Given the description of an element on the screen output the (x, y) to click on. 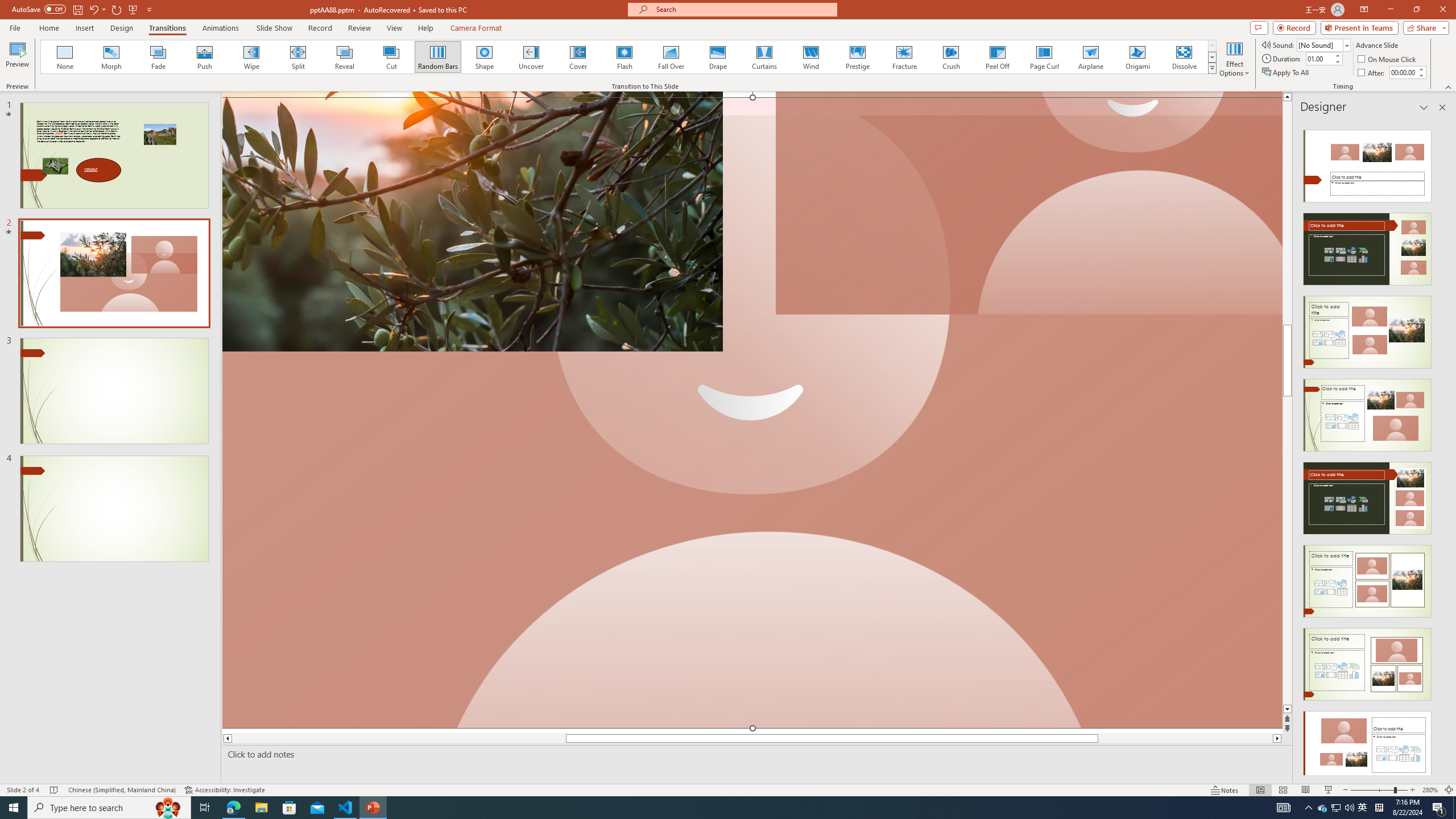
Prestige (857, 56)
Fall Over (670, 56)
After (1372, 72)
Peel Off (997, 56)
Camera 7, No camera detected. (1028, 203)
Random Bars (437, 56)
Recommended Design: Design Idea (1366, 162)
Push (205, 56)
